Given the description of an element on the screen output the (x, y) to click on. 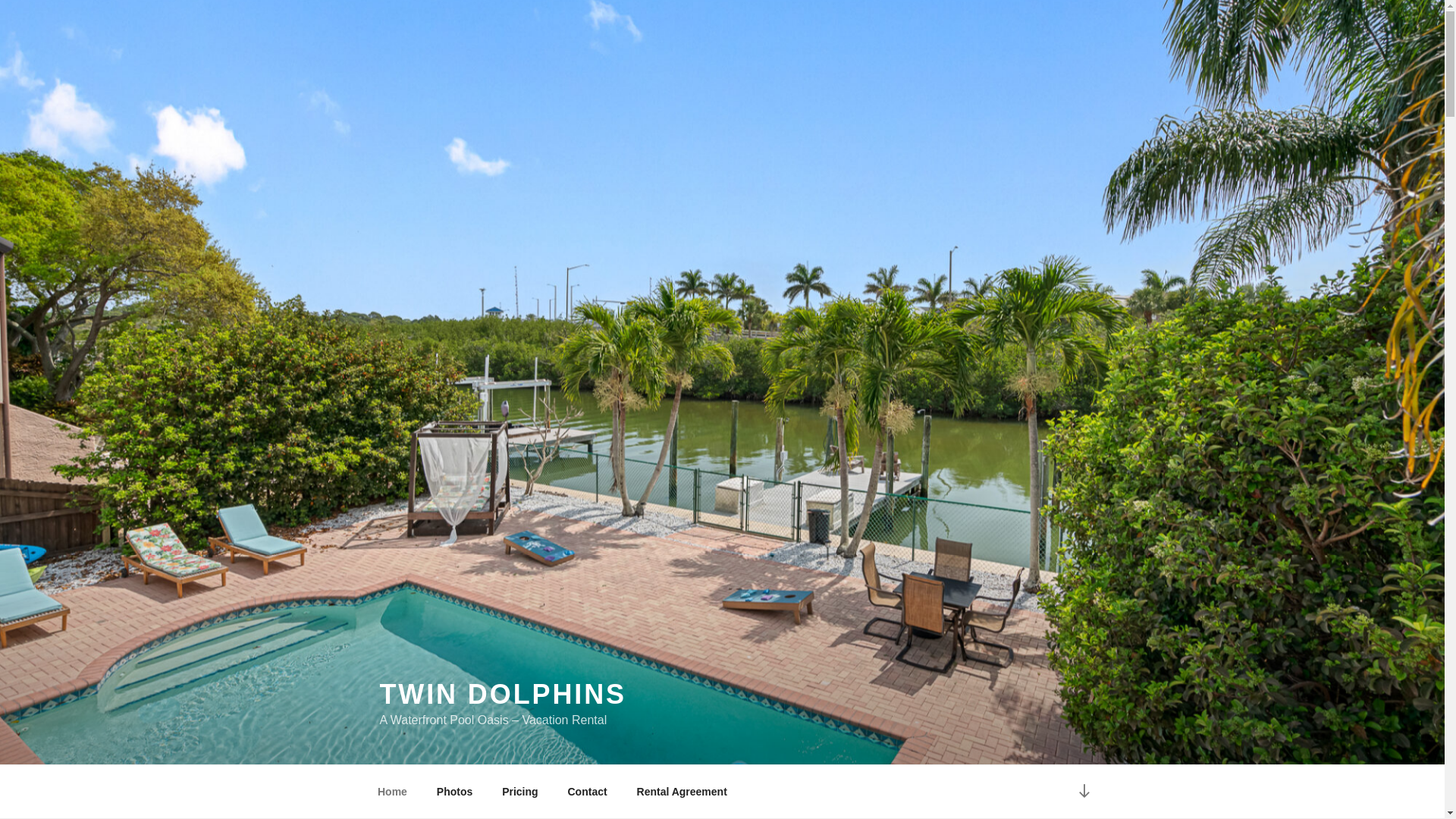
TWIN DOLPHINS (502, 694)
Contact (587, 791)
Scroll down to content (1082, 791)
Pricing (520, 791)
Home (392, 791)
Rental Agreement (681, 791)
Scroll down to content (1082, 791)
Photos (453, 791)
